Given the description of an element on the screen output the (x, y) to click on. 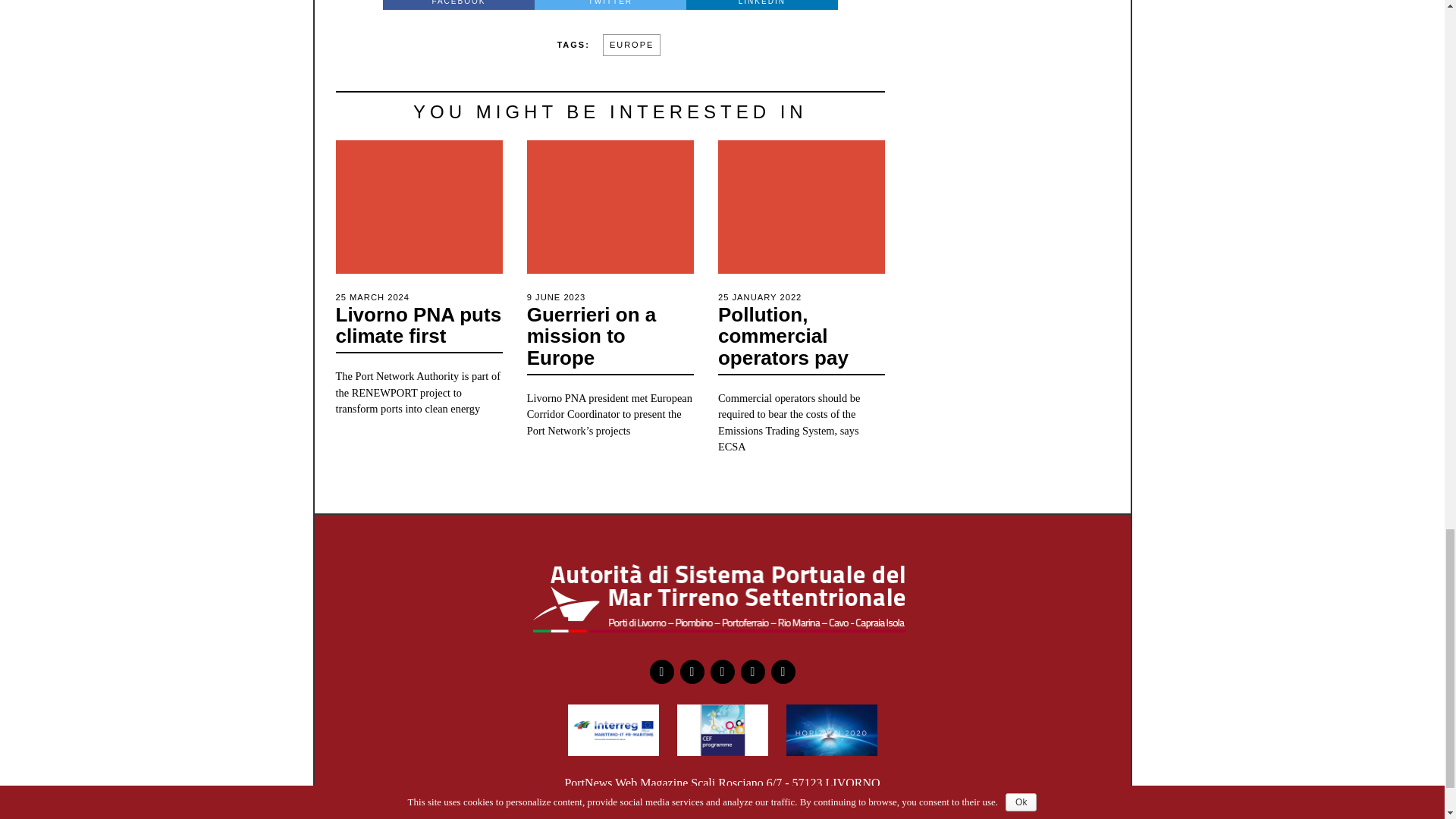
25 March 2024 (371, 297)
FACEBOOK (458, 4)
Twitter (691, 671)
Pollution, commercial operators pay (782, 336)
EUROPE (631, 45)
Facebook (458, 4)
LINKEDIN (761, 4)
Guerrieri on a mission to Europe (591, 336)
Twitter (609, 4)
TWITTER (609, 4)
